Given the description of an element on the screen output the (x, y) to click on. 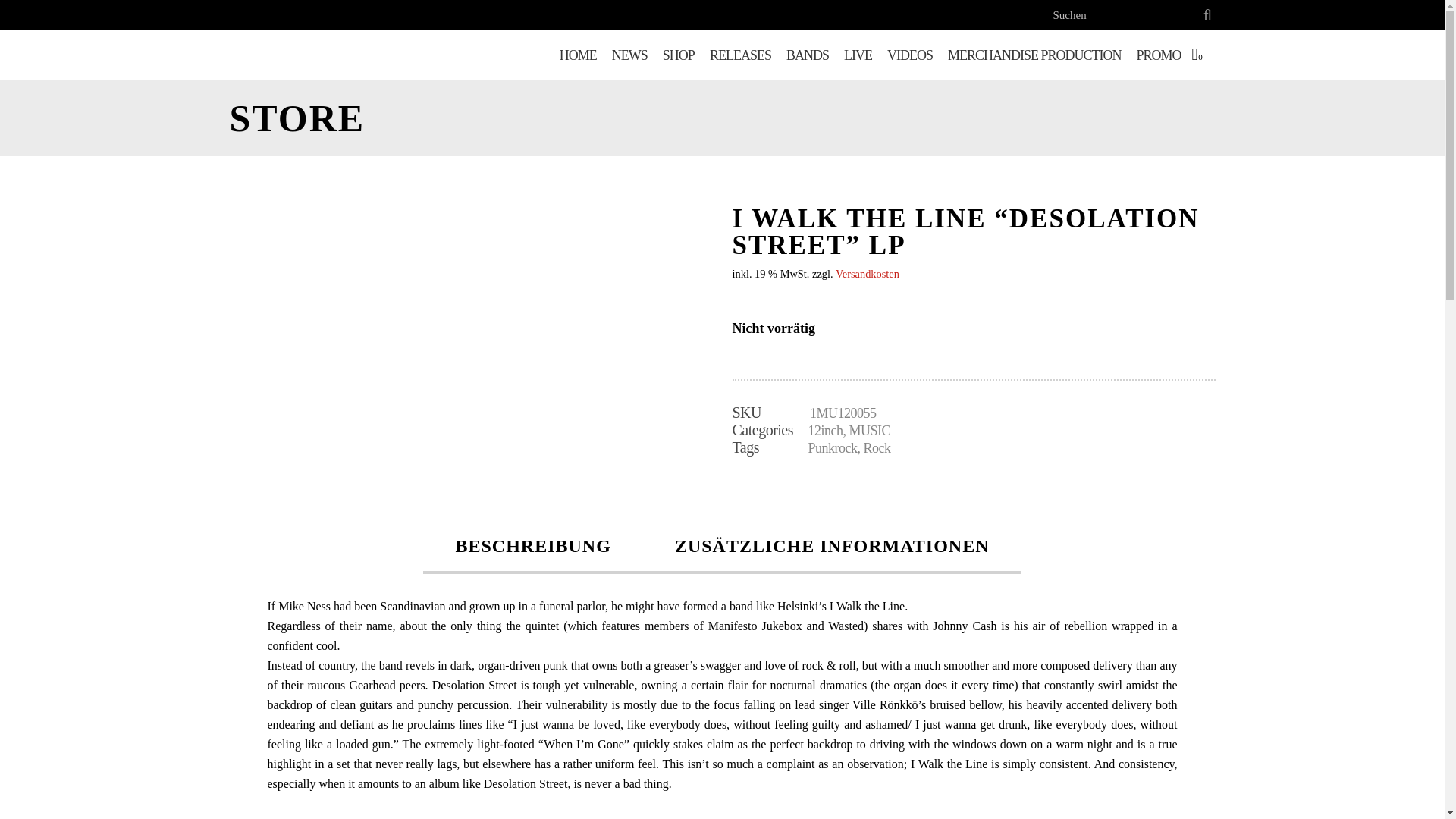
Rock (877, 447)
BESCHREIBUNG (532, 547)
SHOP (678, 54)
Suchen (1123, 14)
MUSIC (869, 430)
HOME (577, 54)
Punkrock (832, 447)
12inch (825, 430)
VIDEOS (909, 54)
BANDS (806, 54)
